Given the description of an element on the screen output the (x, y) to click on. 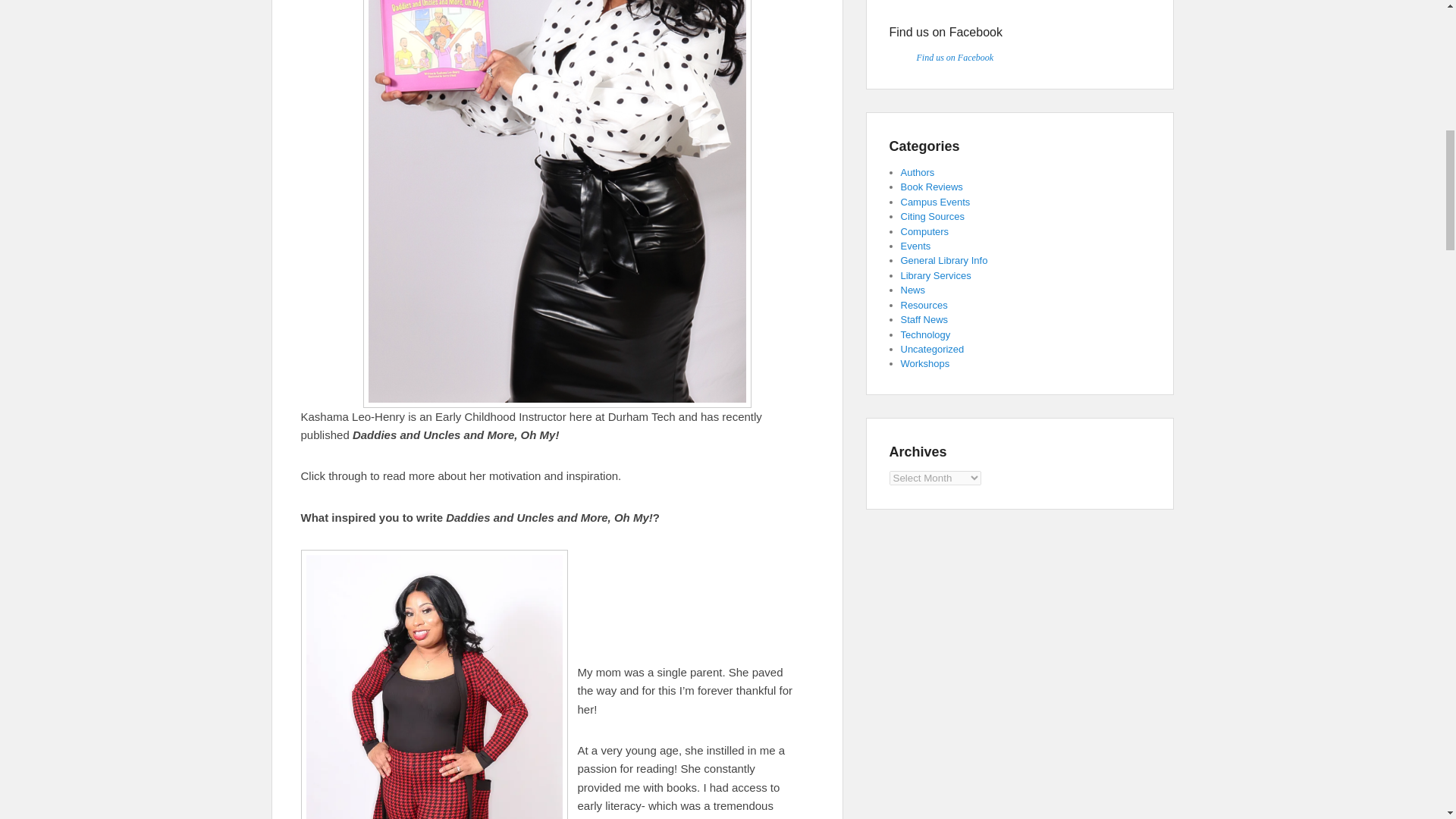
Events (916, 245)
Workshops (925, 363)
General Library Info (944, 260)
Technology (925, 334)
Computers (925, 231)
Authors (917, 172)
Uncategorized (932, 348)
Book Reviews (931, 186)
Citing Sources (933, 215)
News (913, 289)
Library Services (936, 275)
Staff News (925, 319)
Find us on Facebook (953, 57)
Campus Events (936, 202)
Find us on Facebook (944, 31)
